Given the description of an element on the screen output the (x, y) to click on. 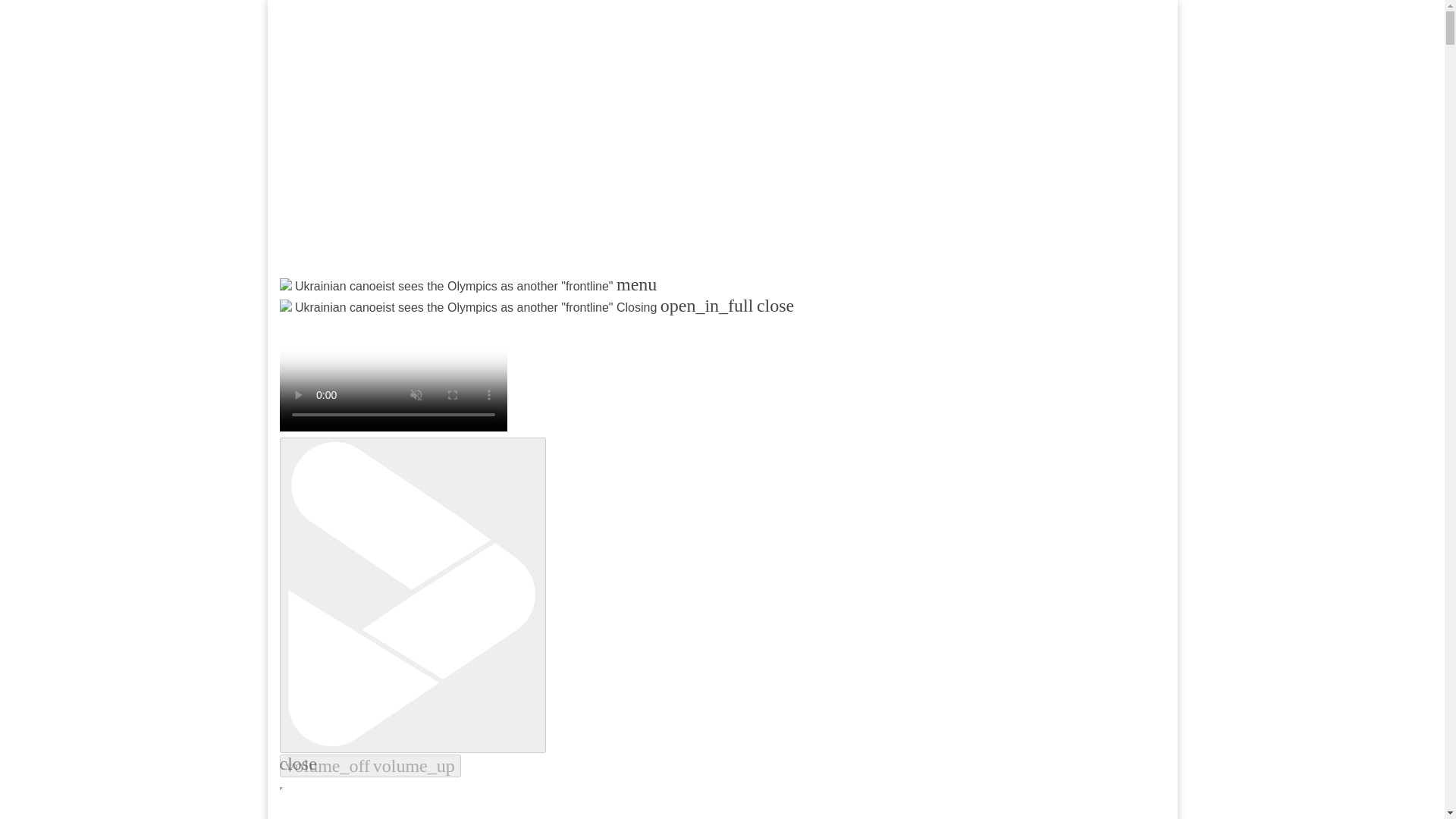
Skope Entertainment Inc (462, 323)
YouTube video player (478, 149)
Skope Entertainment Inc (462, 323)
